Given the description of an element on the screen output the (x, y) to click on. 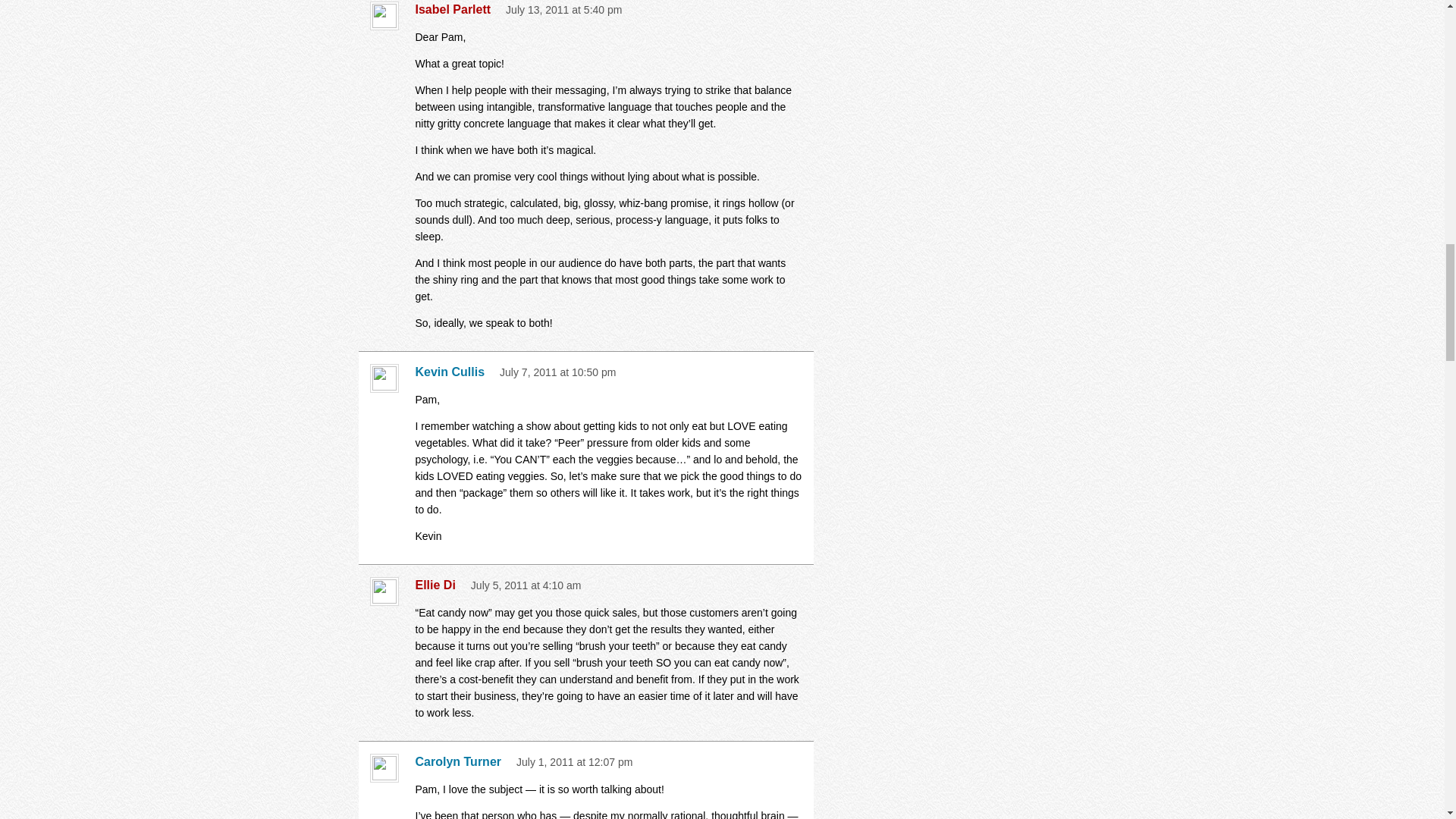
Isabel Parlett (456, 9)
Carolyn Turner (461, 761)
July 7, 2011 at 10:50 pm (557, 372)
Kevin Cullis (453, 371)
Ellie Di (438, 585)
July 13, 2011 at 5:40 pm (563, 9)
July 5, 2011 at 4:10 am (525, 585)
July 1, 2011 at 12:07 pm (573, 761)
